Given the description of an element on the screen output the (x, y) to click on. 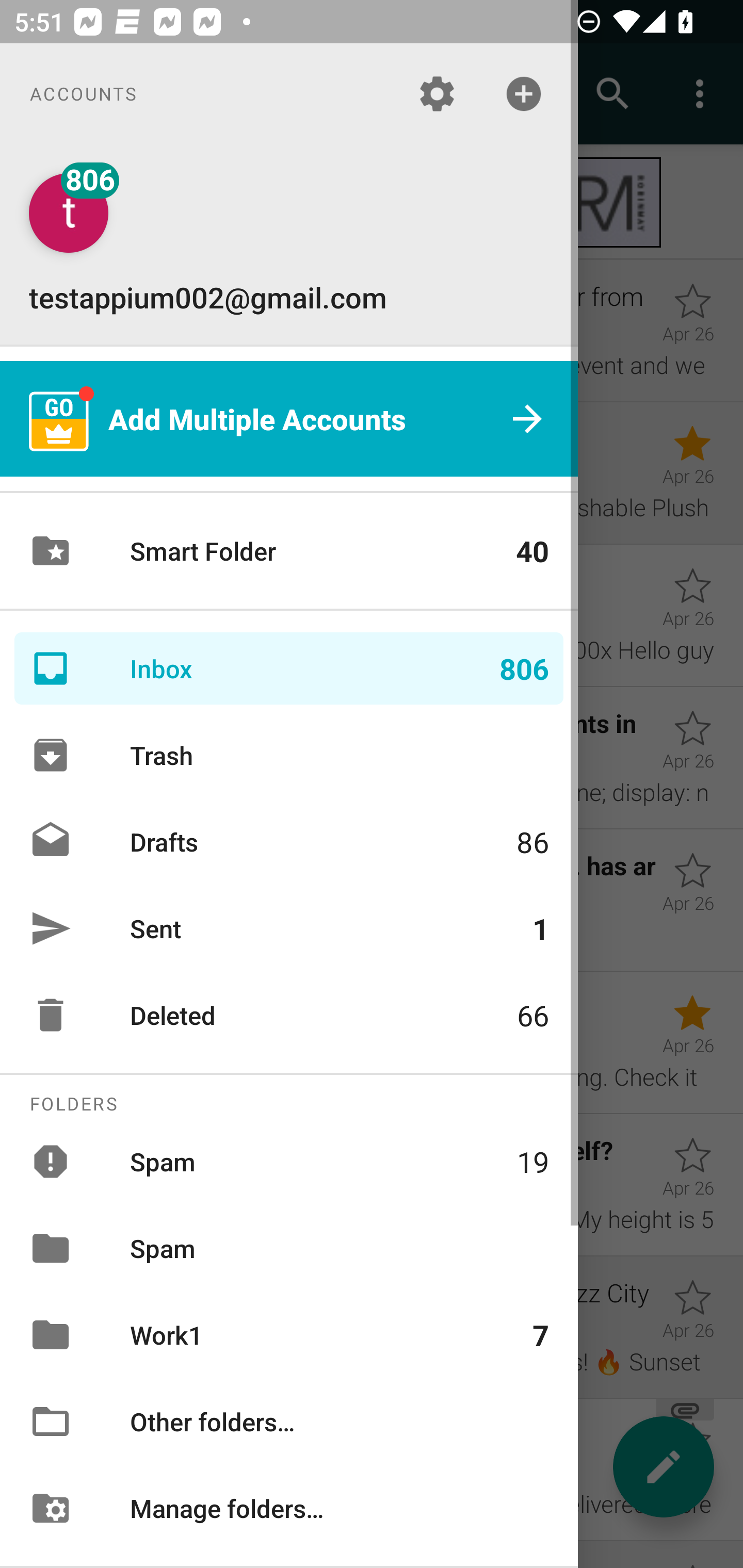
testappium002@gmail.com (289, 244)
Add Multiple Accounts (289, 418)
Smart Folder 40 (289, 551)
Inbox 806 (289, 668)
Trash (289, 754)
Drafts 86 (289, 841)
Sent 1 (289, 928)
Deleted 66 (289, 1015)
Spam 19 (289, 1160)
Spam (289, 1248)
Work1 7 (289, 1335)
Other folders… (289, 1421)
Manage folders… (289, 1507)
